Given the description of an element on the screen output the (x, y) to click on. 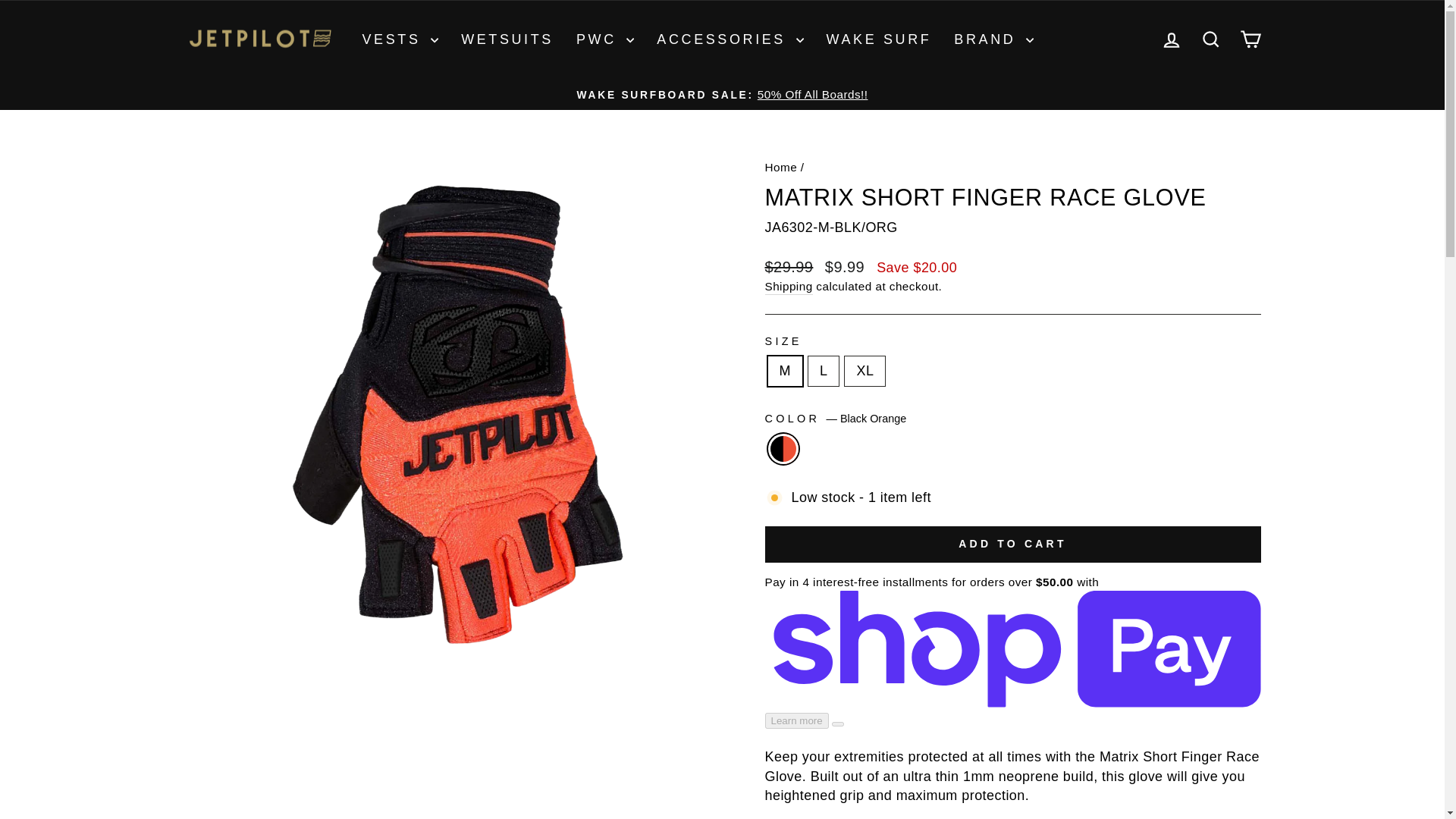
ICON-SEARCH (1210, 38)
Back to the frontpage (780, 166)
ACCOUNT (1170, 39)
